Given the description of an element on the screen output the (x, y) to click on. 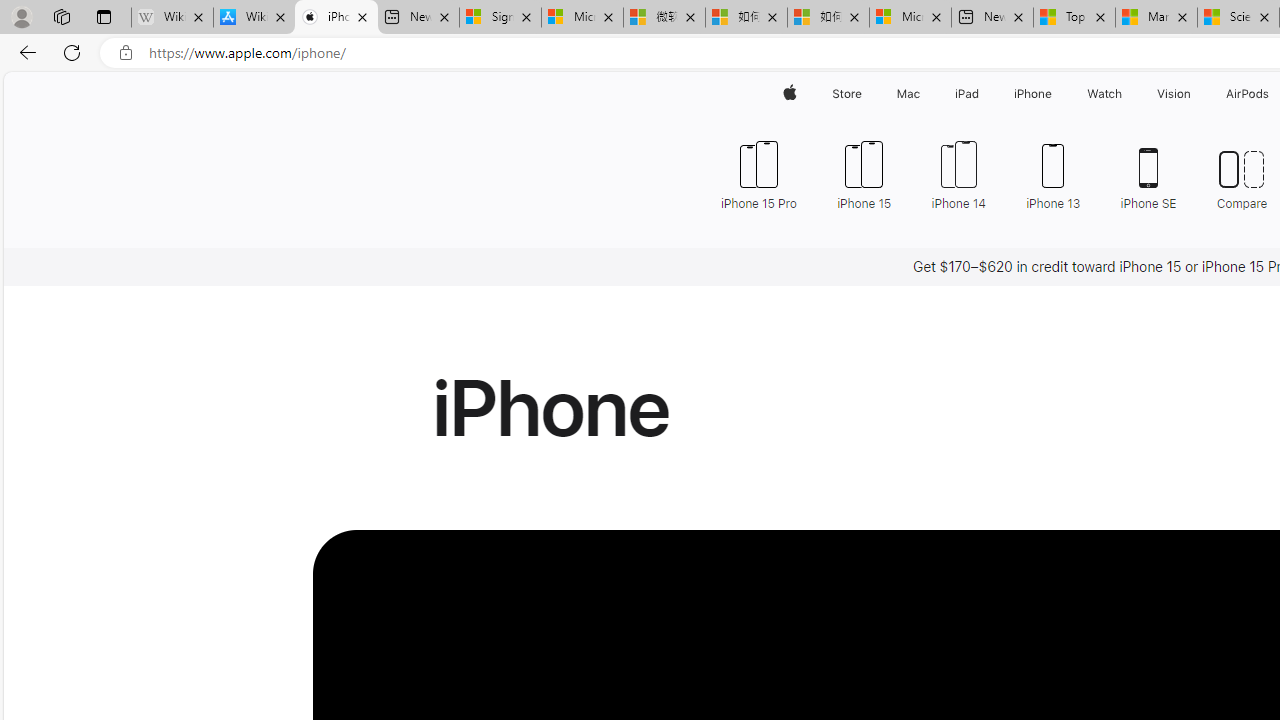
iPhone menu (1055, 93)
iPhone 15 Pro (758, 173)
iPhone 13 (1053, 173)
iPhone SE (1148, 173)
iPhone - Apple (336, 17)
iPhone (1033, 93)
iPhone 15 (863, 173)
Mac (908, 93)
Mac (908, 93)
iPhone 14 (958, 173)
